Given the description of an element on the screen output the (x, y) to click on. 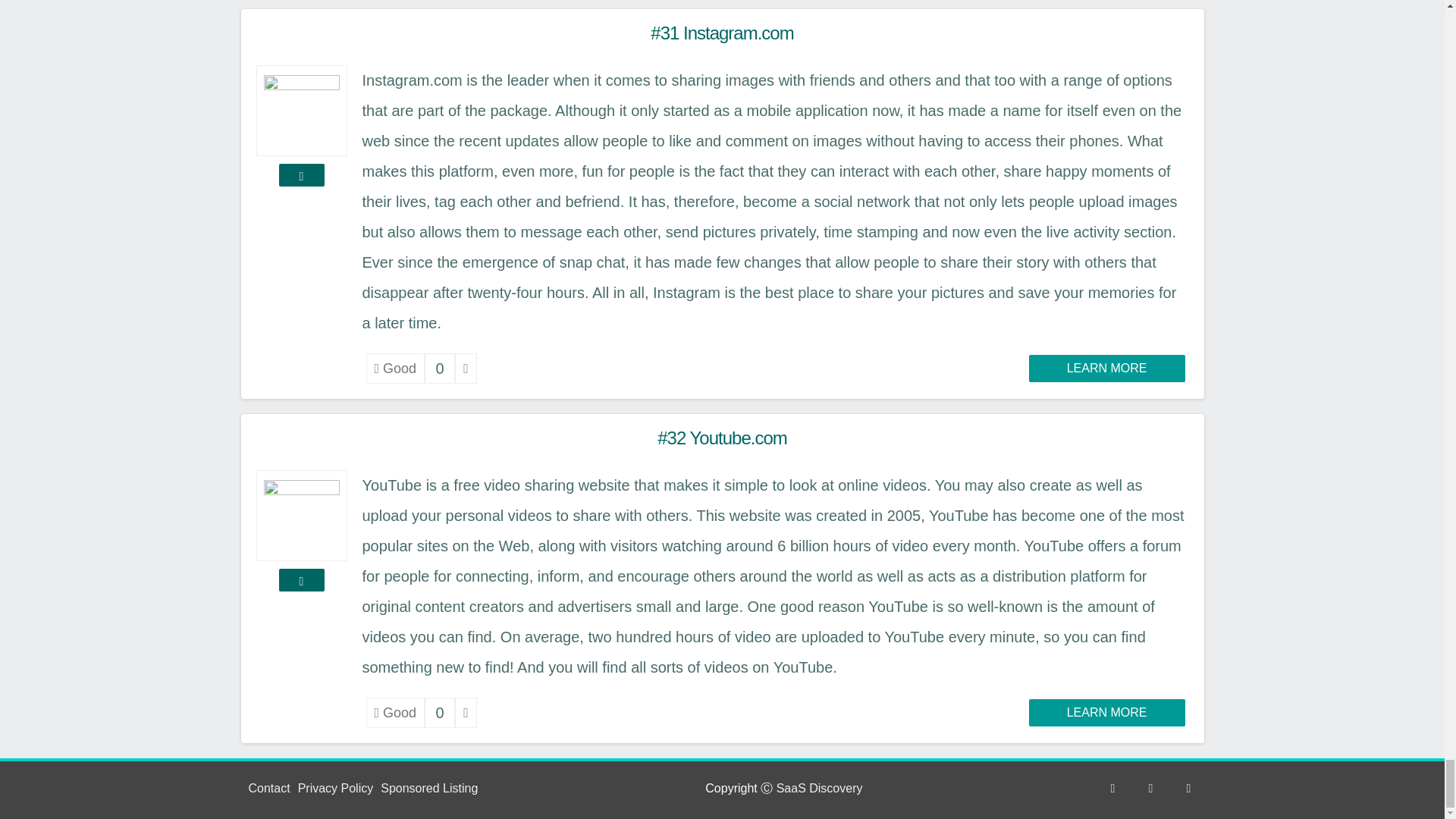
LinkedIn (1188, 788)
Twitter (1150, 788)
Facebook (1111, 788)
